Given the description of an element on the screen output the (x, y) to click on. 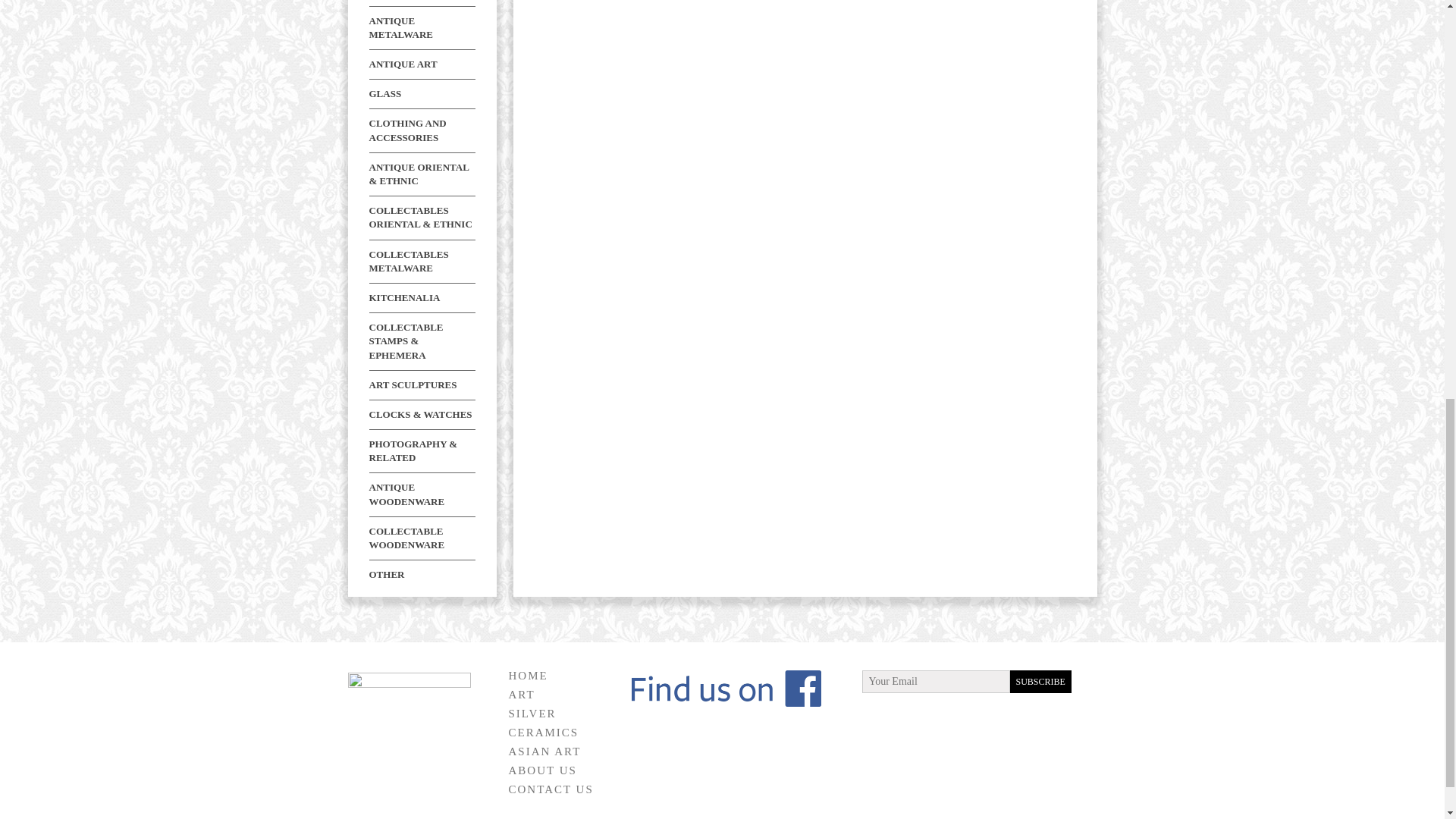
GLASS (384, 93)
Subscribe (1040, 681)
ANTIQUE METALWARE (400, 27)
COLLECTABLES METALWARE (408, 260)
CLOTHING AND ACCESSORIES (406, 129)
ANTIQUE ART (402, 63)
